Given the description of an element on the screen output the (x, y) to click on. 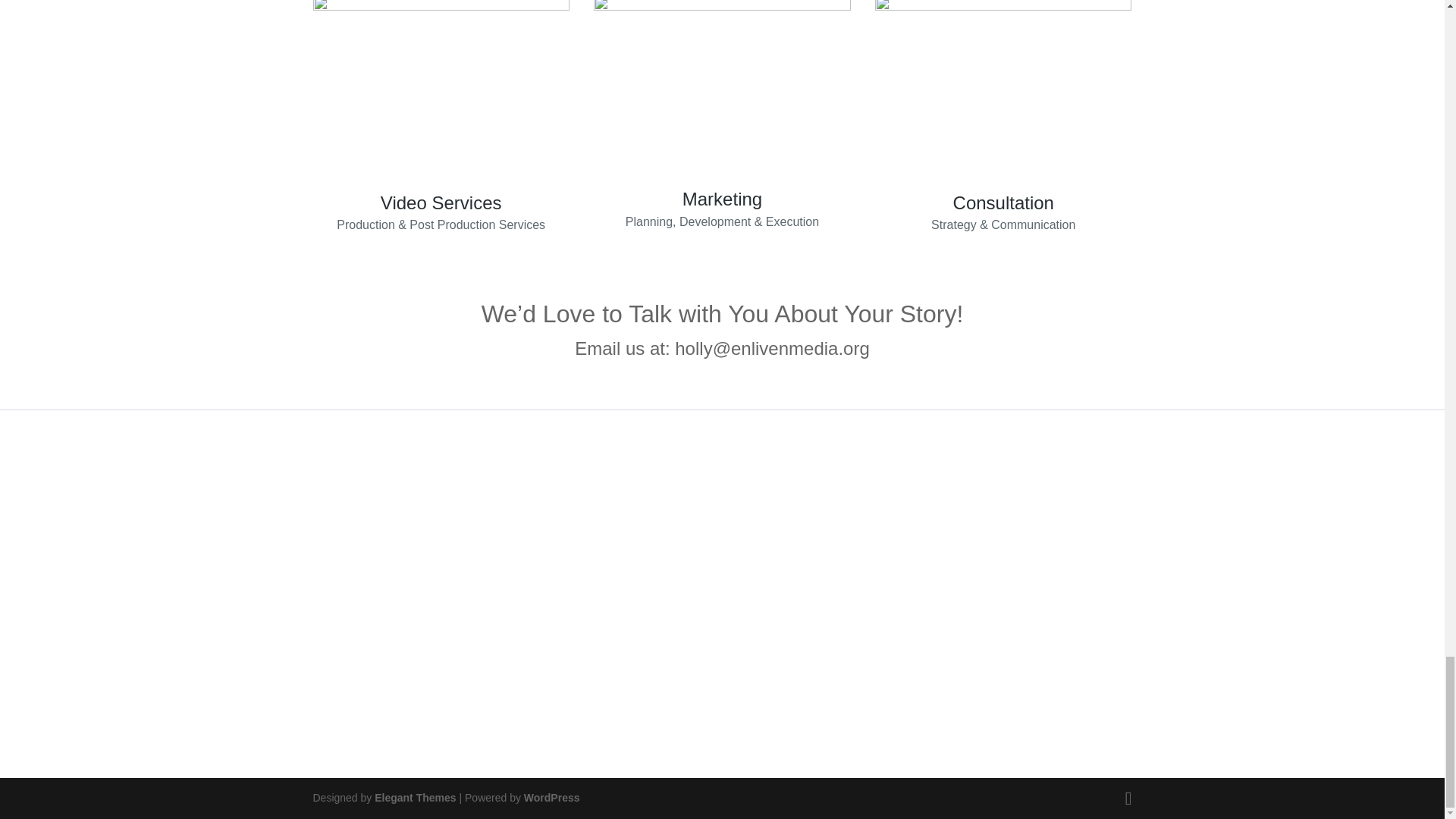
Premium WordPress Themes (414, 797)
WordPress (551, 797)
Elegant Themes (414, 797)
